Given the description of an element on the screen output the (x, y) to click on. 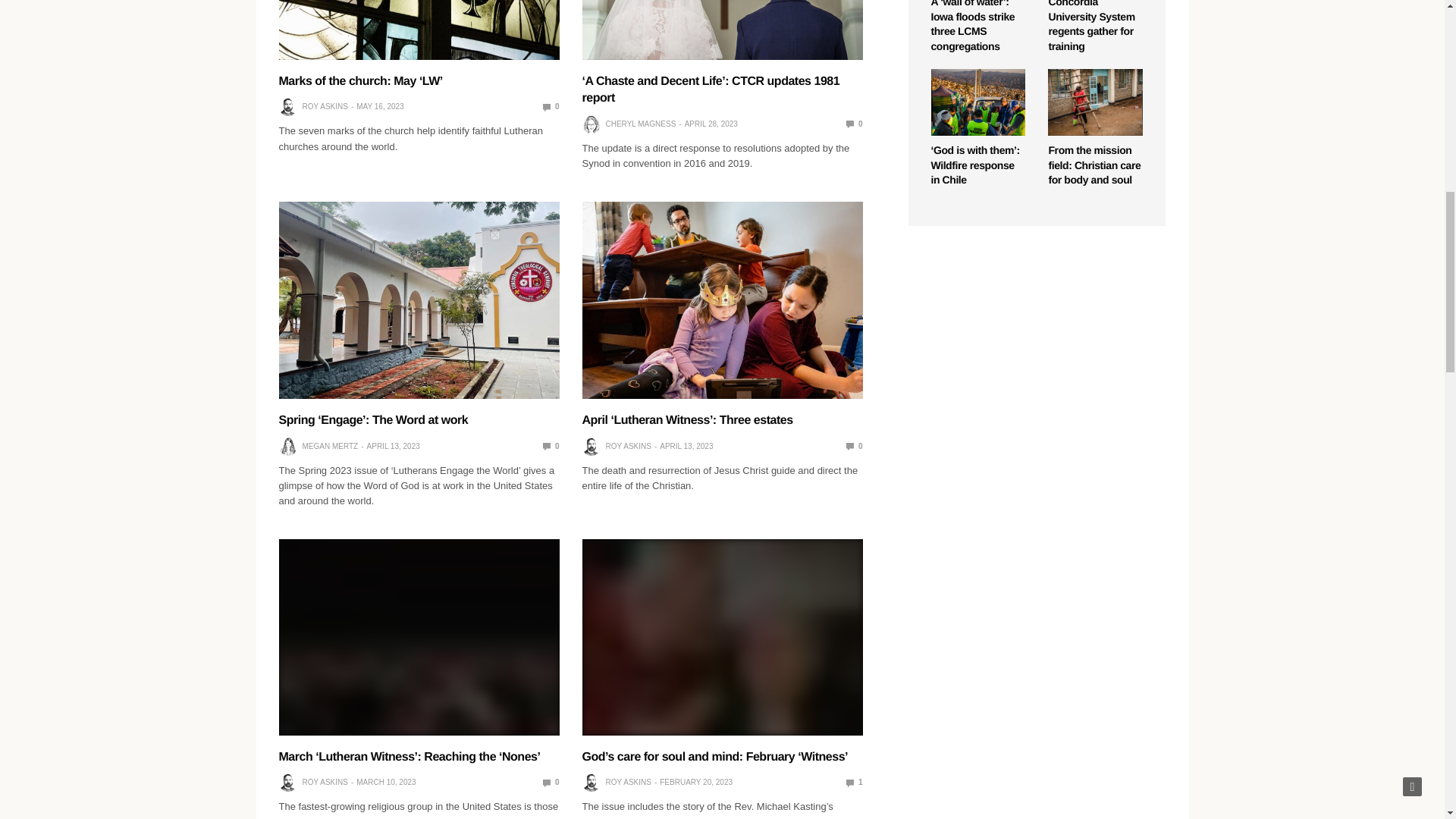
Posts by Roy Askins (324, 106)
